Given the description of an element on the screen output the (x, y) to click on. 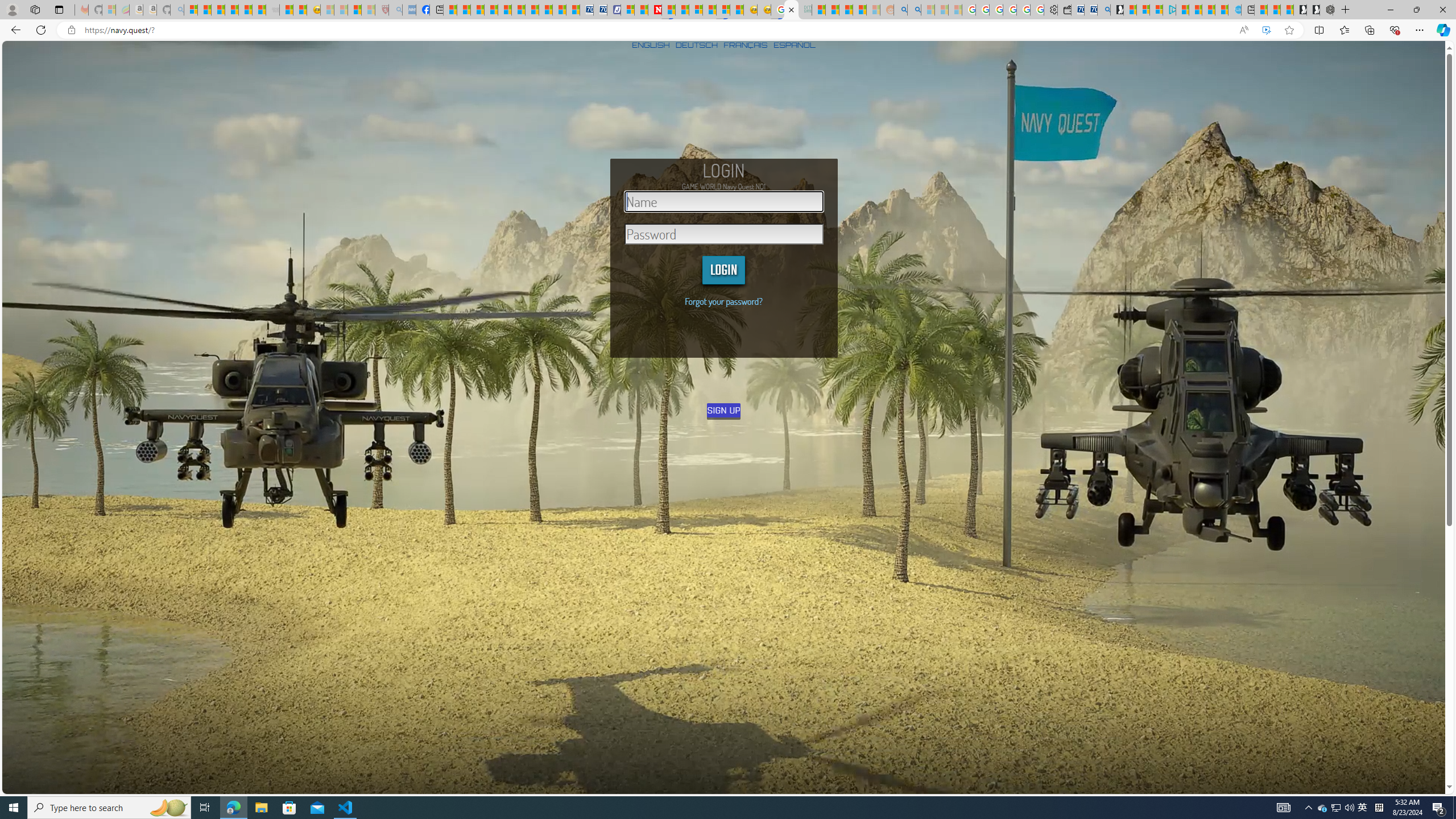
Latest Politics News & Archive | Newsweek.com (654, 9)
